Given the description of an element on the screen output the (x, y) to click on. 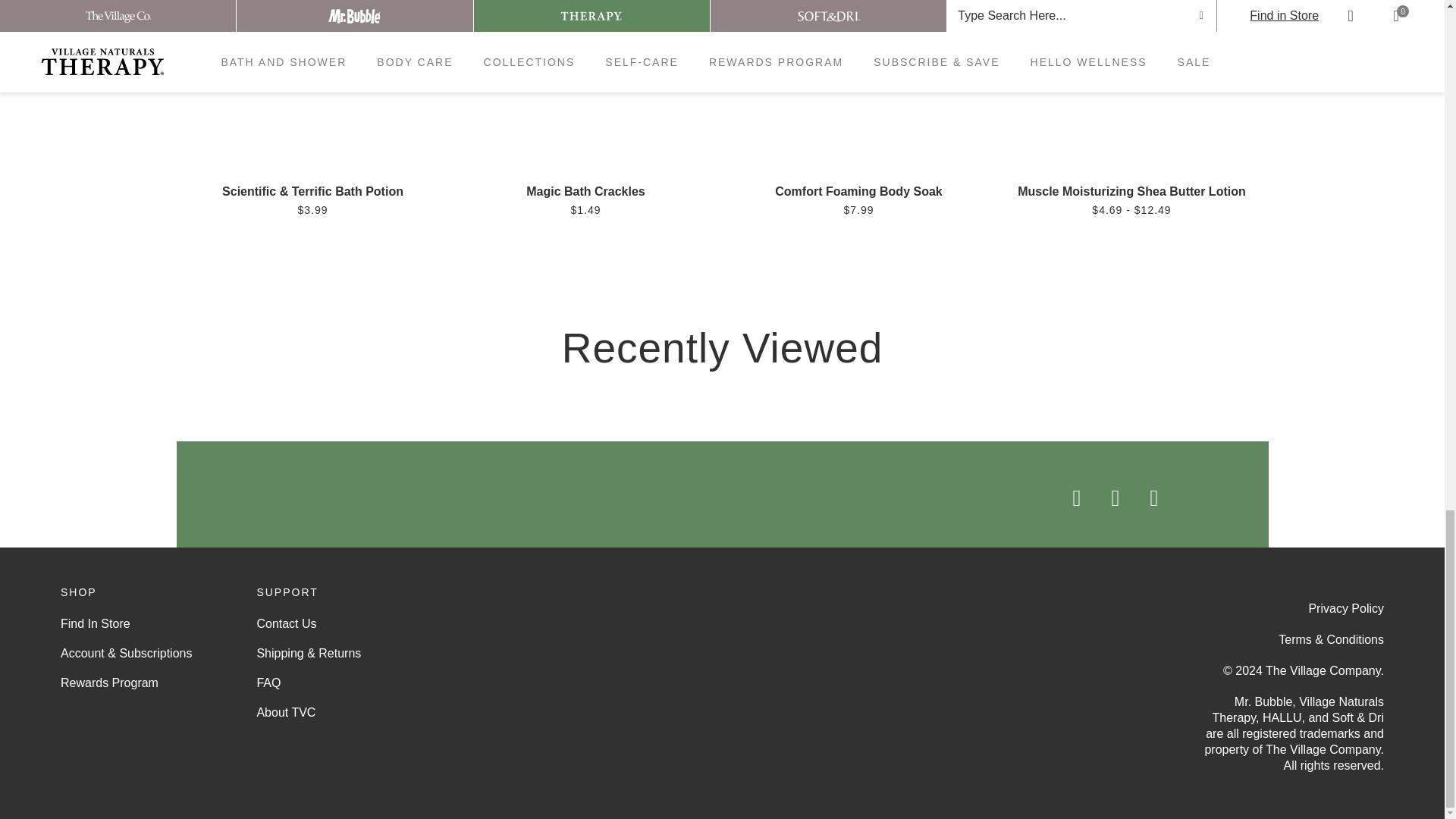
The Village Company on Instagram (1100, 497)
The Village Company on Facebook (1061, 497)
The Village Company on TikTok (1183, 497)
The Village Company on Pinterest (1138, 497)
